Given the description of an element on the screen output the (x, y) to click on. 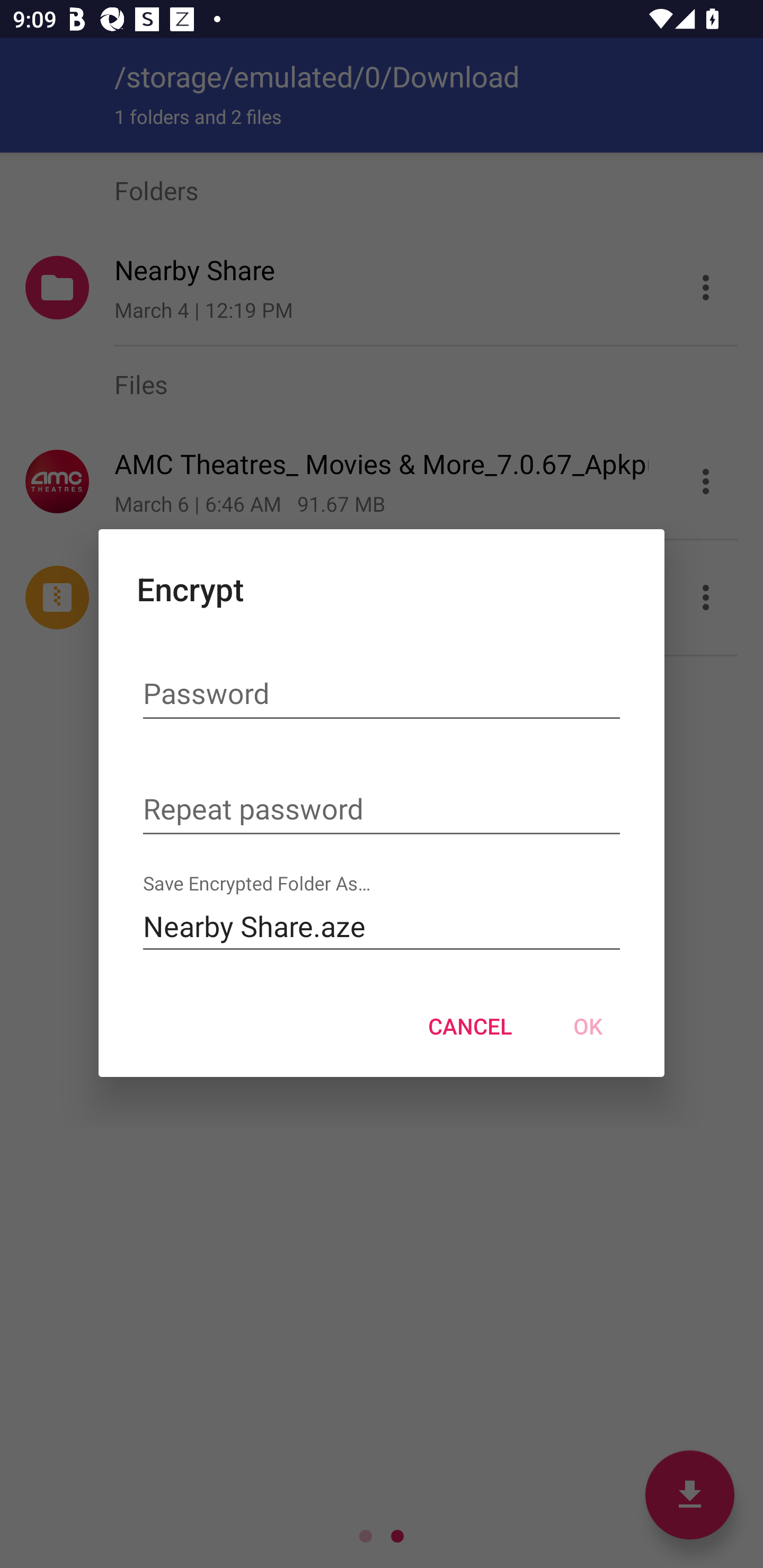
Password (381, 696)
Repeat password (381, 810)
Nearby Share.aze (381, 926)
CANCEL (469, 1025)
OK (588, 1025)
